Given the description of an element on the screen output the (x, y) to click on. 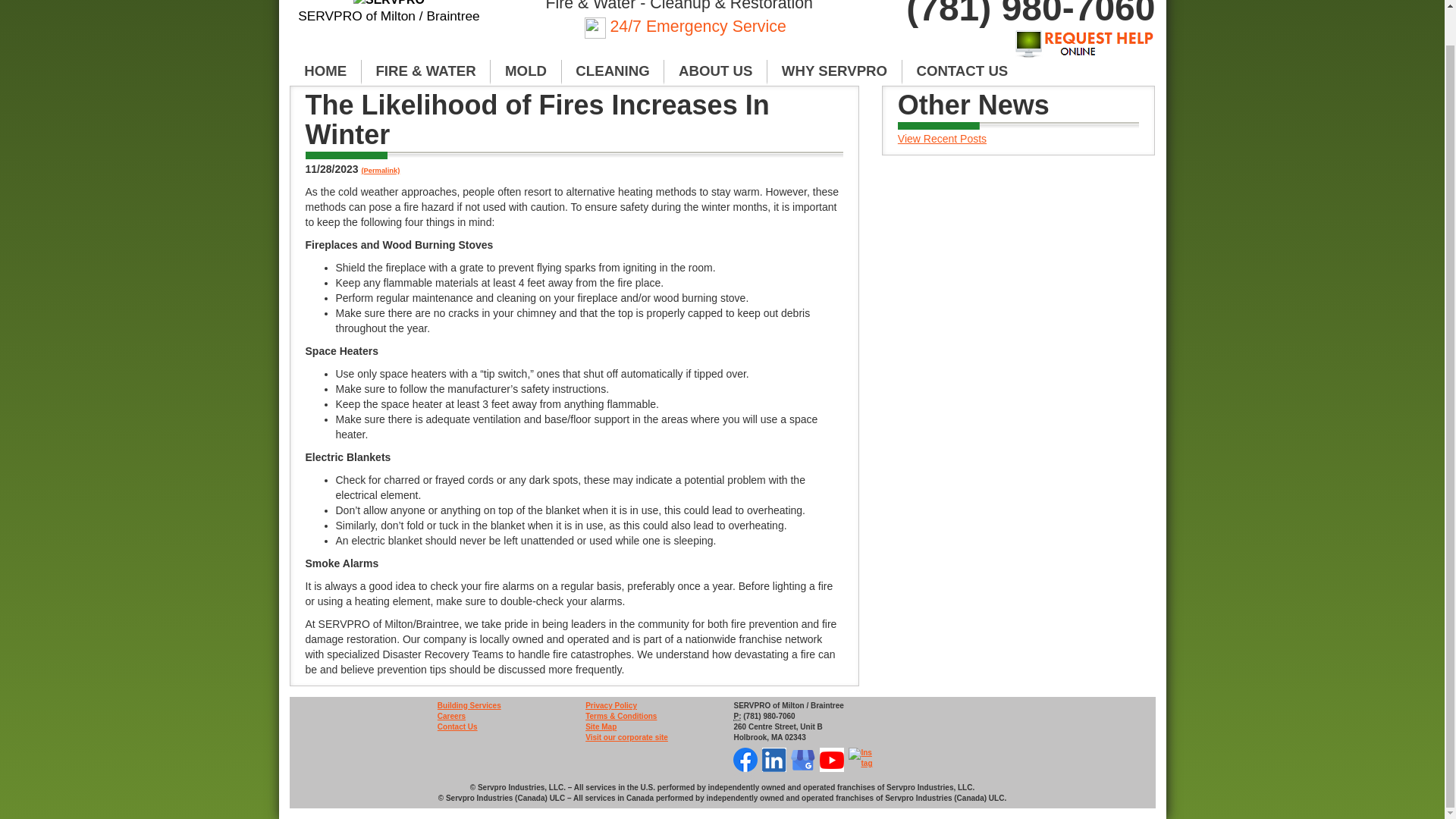
HOME (325, 71)
CLEANING (613, 71)
MOLD (525, 71)
ABOUT US (715, 71)
